Given the description of an element on the screen output the (x, y) to click on. 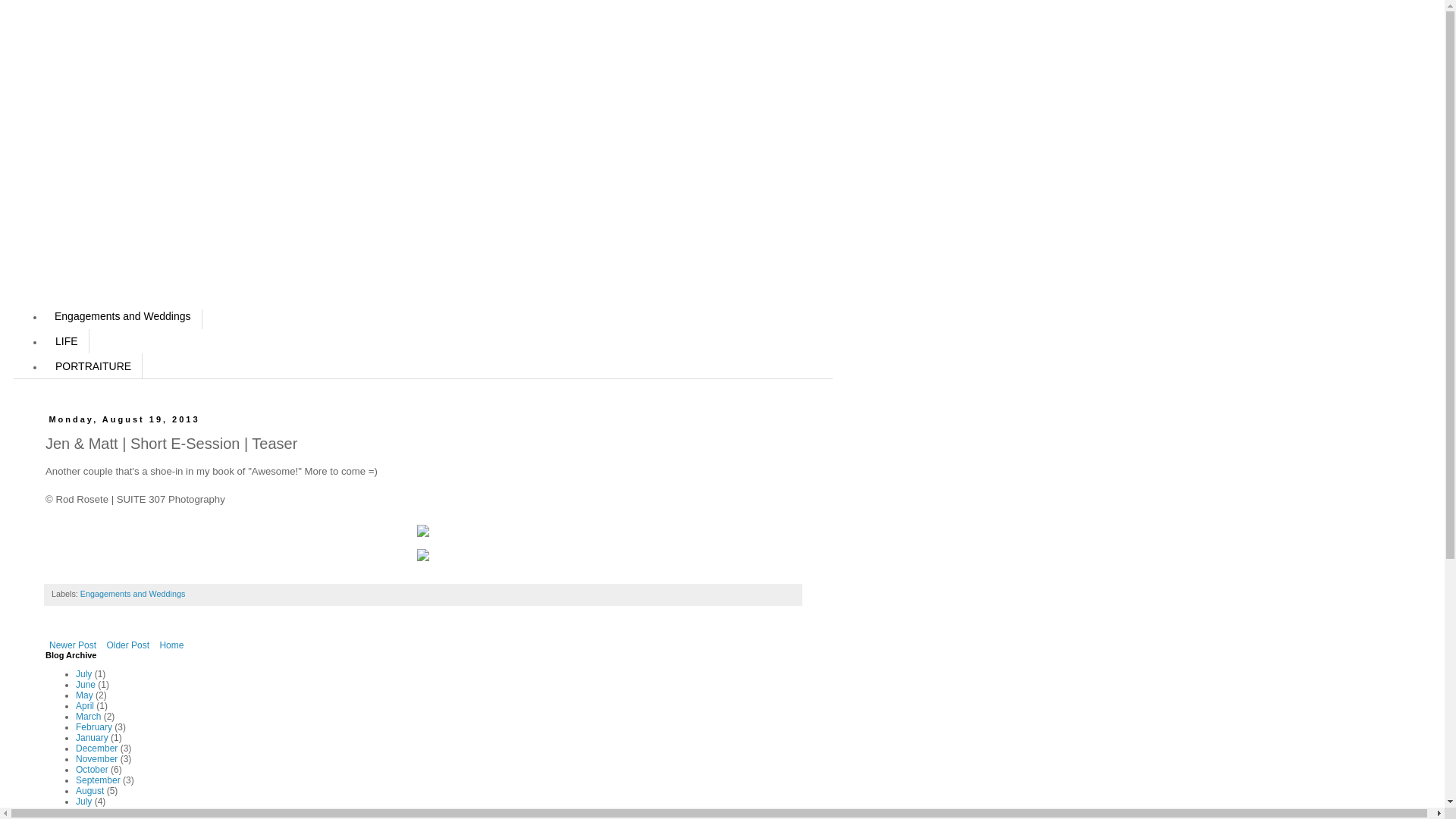
November Element type: text (96, 758)
Portfolio Element type: text (75, 263)
June Element type: text (85, 811)
July Element type: text (83, 673)
March Element type: text (87, 716)
Home Element type: text (69, 164)
Home Element type: text (171, 645)
December Element type: text (96, 748)
Engagements and Weddings Element type: text (132, 593)
April Element type: text (84, 705)
Newer Post Element type: text (72, 645)
Older Post Element type: text (127, 645)
May Element type: text (84, 695)
LIFE Element type: text (66, 341)
February Element type: text (93, 726)
January Element type: text (91, 737)
Facebook Element type: text (78, 214)
Engagements and Weddings Element type: text (122, 316)
Behind the Lens | Contact Element type: text (116, 238)
September Element type: text (97, 780)
July Element type: text (83, 801)
SUITE 307 Photography | Studio, Fashion, & Glam Element type: text (175, 189)
August Element type: text (89, 790)
PORTRAITURE Element type: text (92, 365)
June Element type: text (85, 684)
October Element type: text (91, 769)
